Given the description of an element on the screen output the (x, y) to click on. 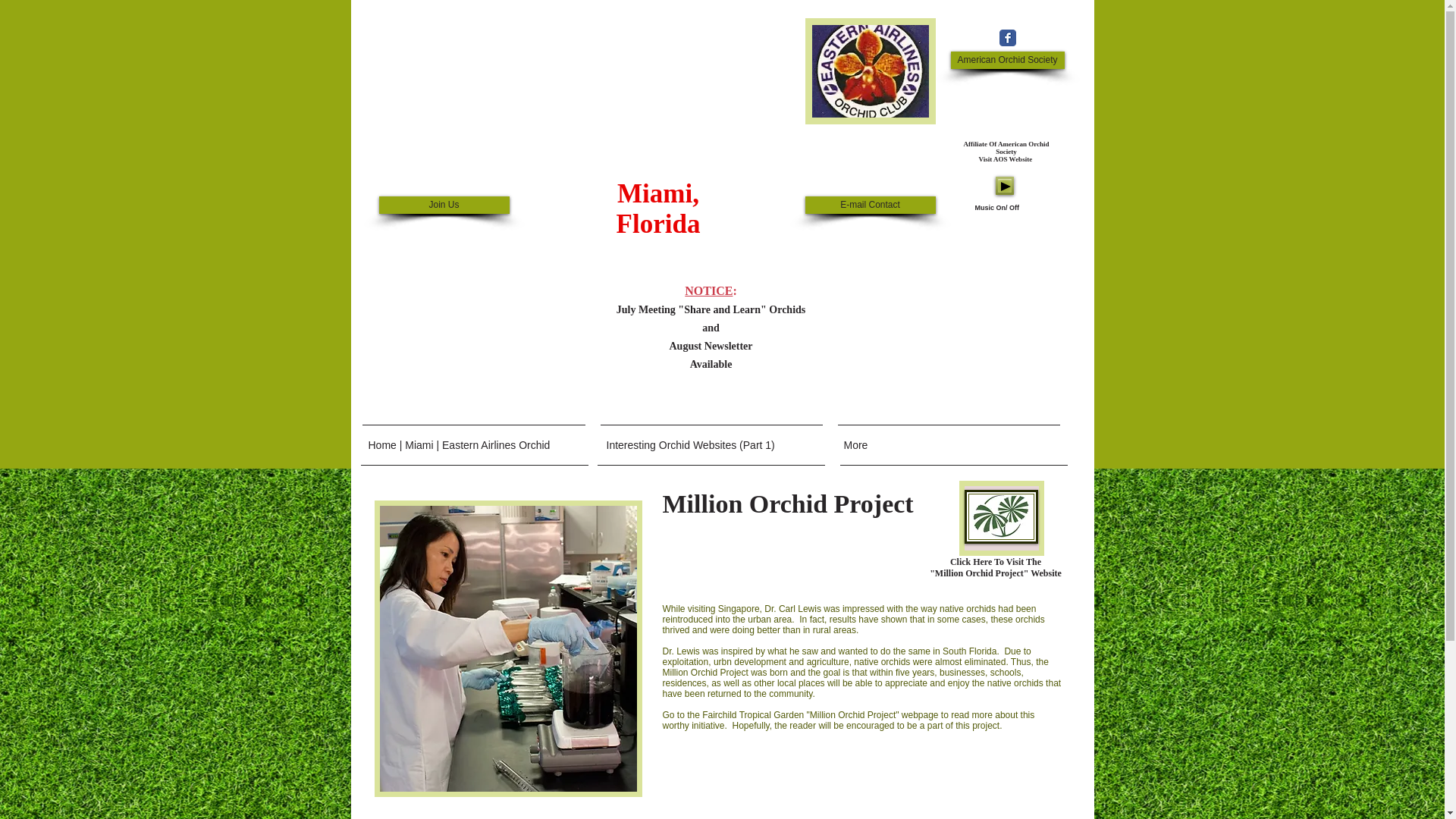
Eastern Airlines Orchid Club (870, 71)
E-mail Contact (870, 204)
Million Orchid Project.jpg (508, 648)
Join Us (443, 204)
American Orchid Society (1007, 59)
Fairchild Logo.png (1000, 516)
